Given the description of an element on the screen output the (x, y) to click on. 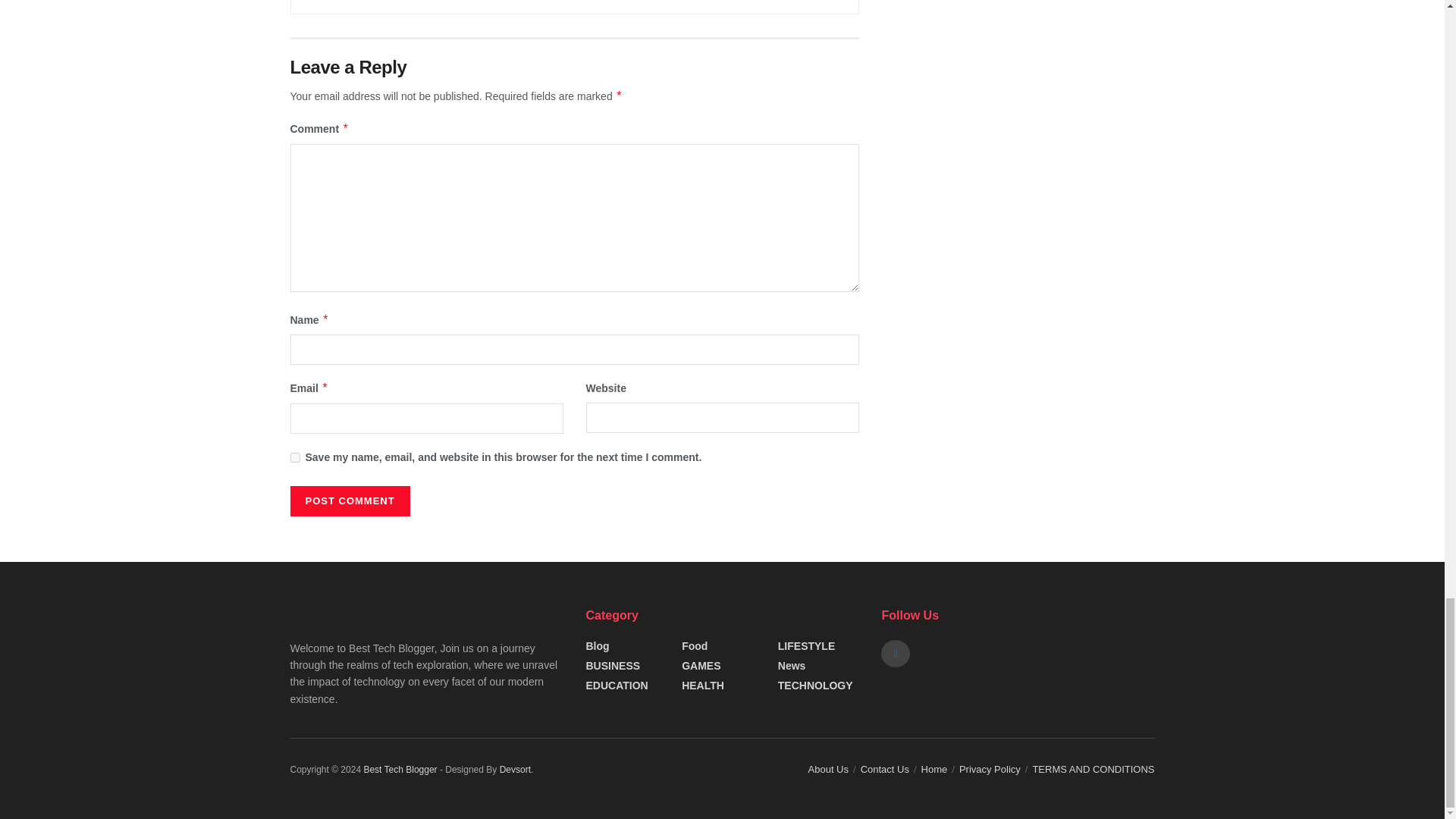
Post Comment (349, 501)
yes (294, 457)
Devsort (515, 769)
